Given the description of an element on the screen output the (x, y) to click on. 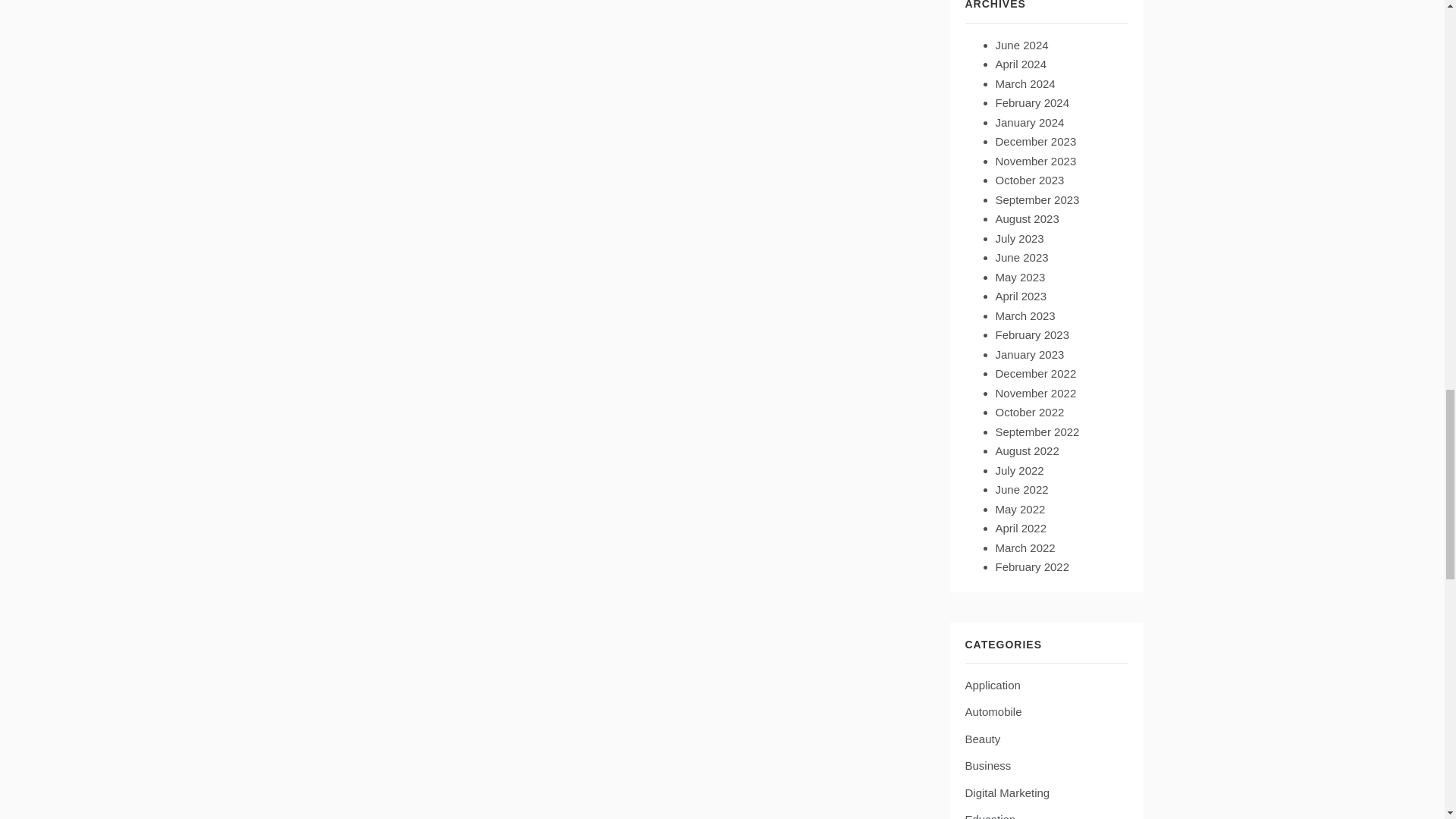
April 2024 (1020, 63)
October 2023 (1029, 179)
January 2023 (1029, 354)
June 2023 (1021, 256)
May 2023 (1019, 277)
November 2023 (1034, 160)
August 2023 (1026, 218)
June 2024 (1021, 44)
March 2023 (1024, 315)
September 2023 (1036, 199)
July 2023 (1018, 237)
April 2023 (1020, 295)
March 2024 (1024, 83)
February 2023 (1031, 334)
February 2024 (1031, 102)
